Given the description of an element on the screen output the (x, y) to click on. 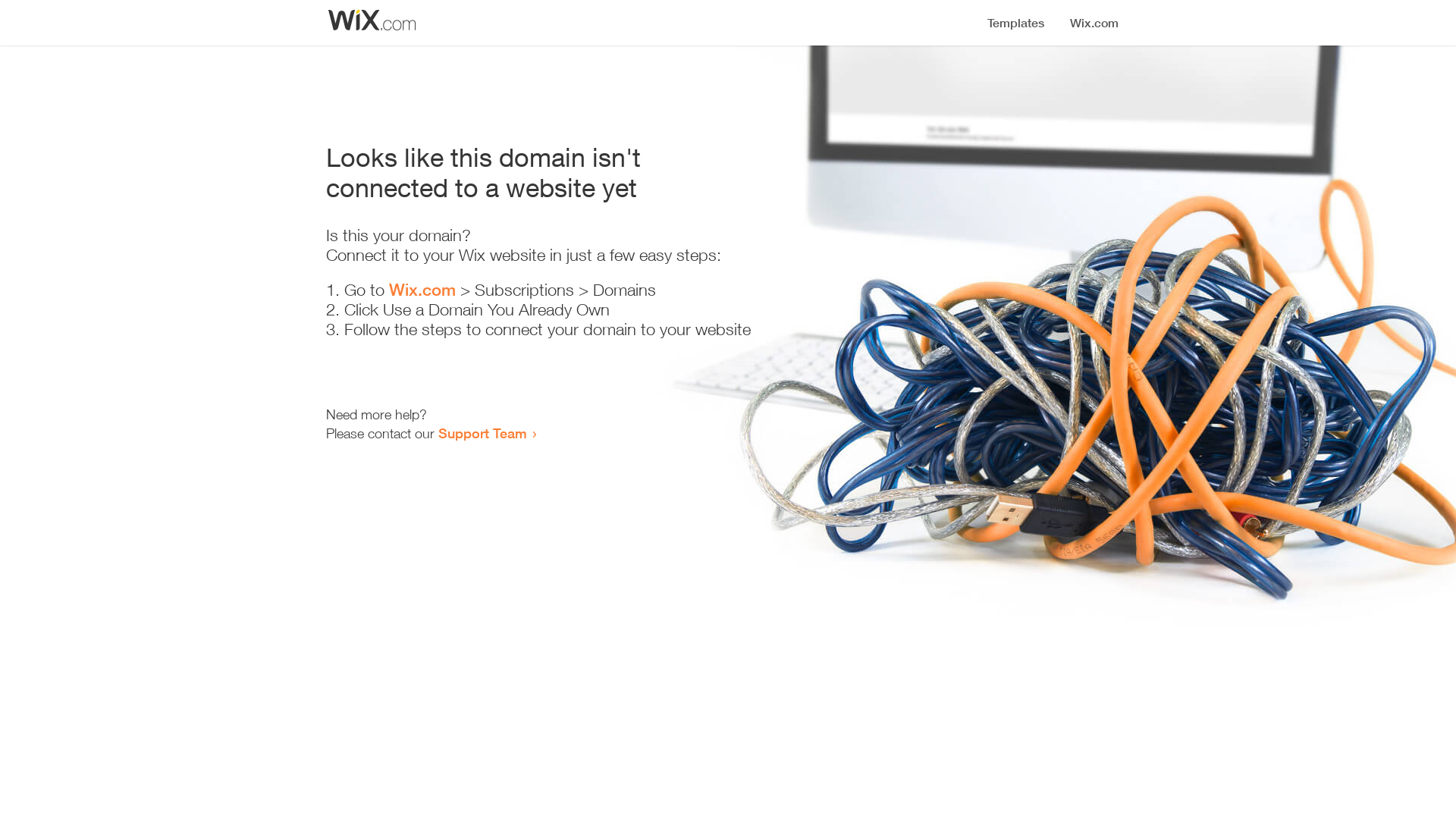
Wix.com Element type: text (422, 289)
Support Team Element type: text (482, 432)
